Given the description of an element on the screen output the (x, y) to click on. 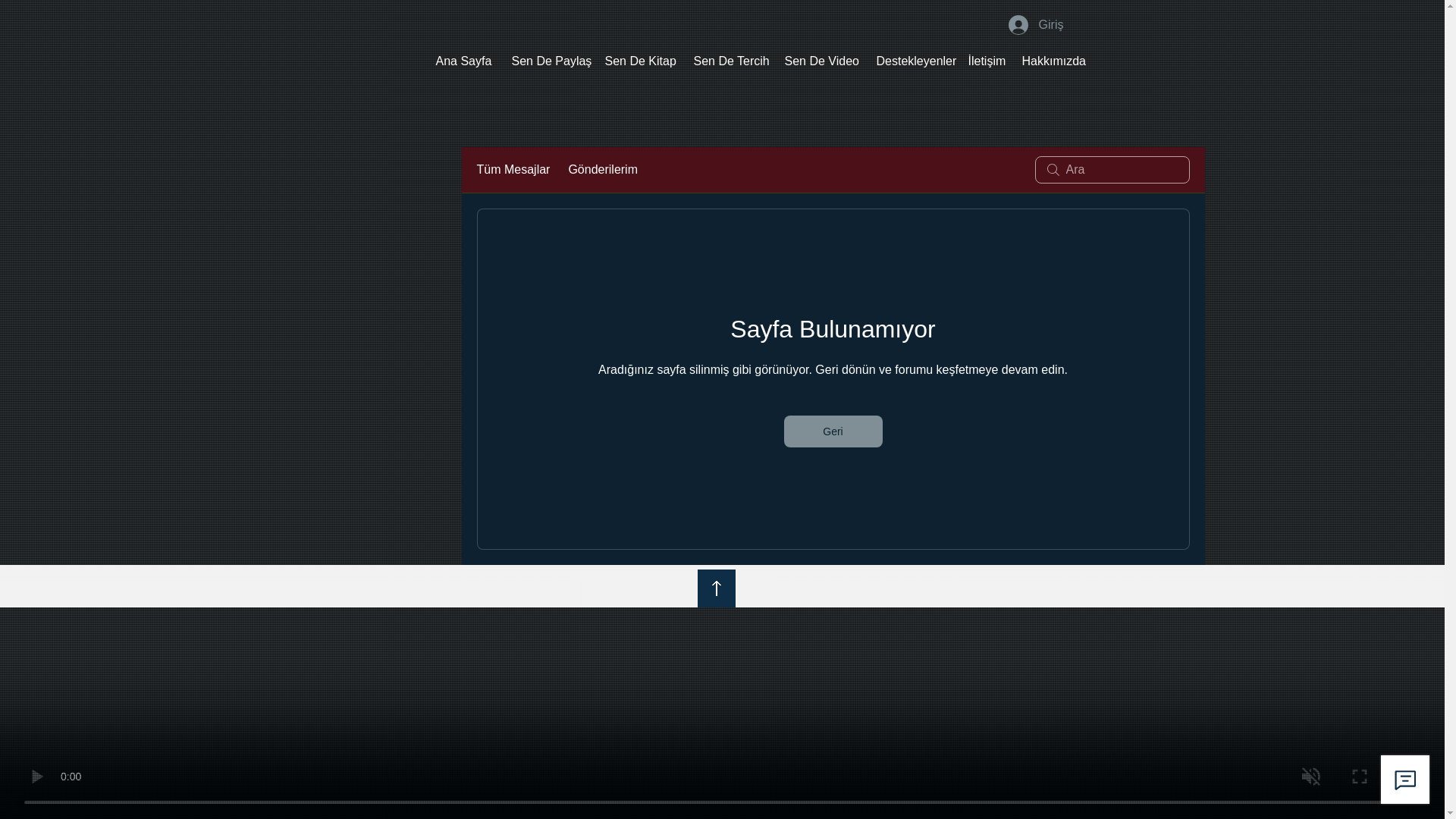
Sen De Kitap (636, 60)
Sen De Tercih (727, 60)
Ana Sayfa (462, 60)
Geri (833, 431)
Sen De Video (818, 60)
Destekleyenler (910, 60)
